Given the description of an element on the screen output the (x, y) to click on. 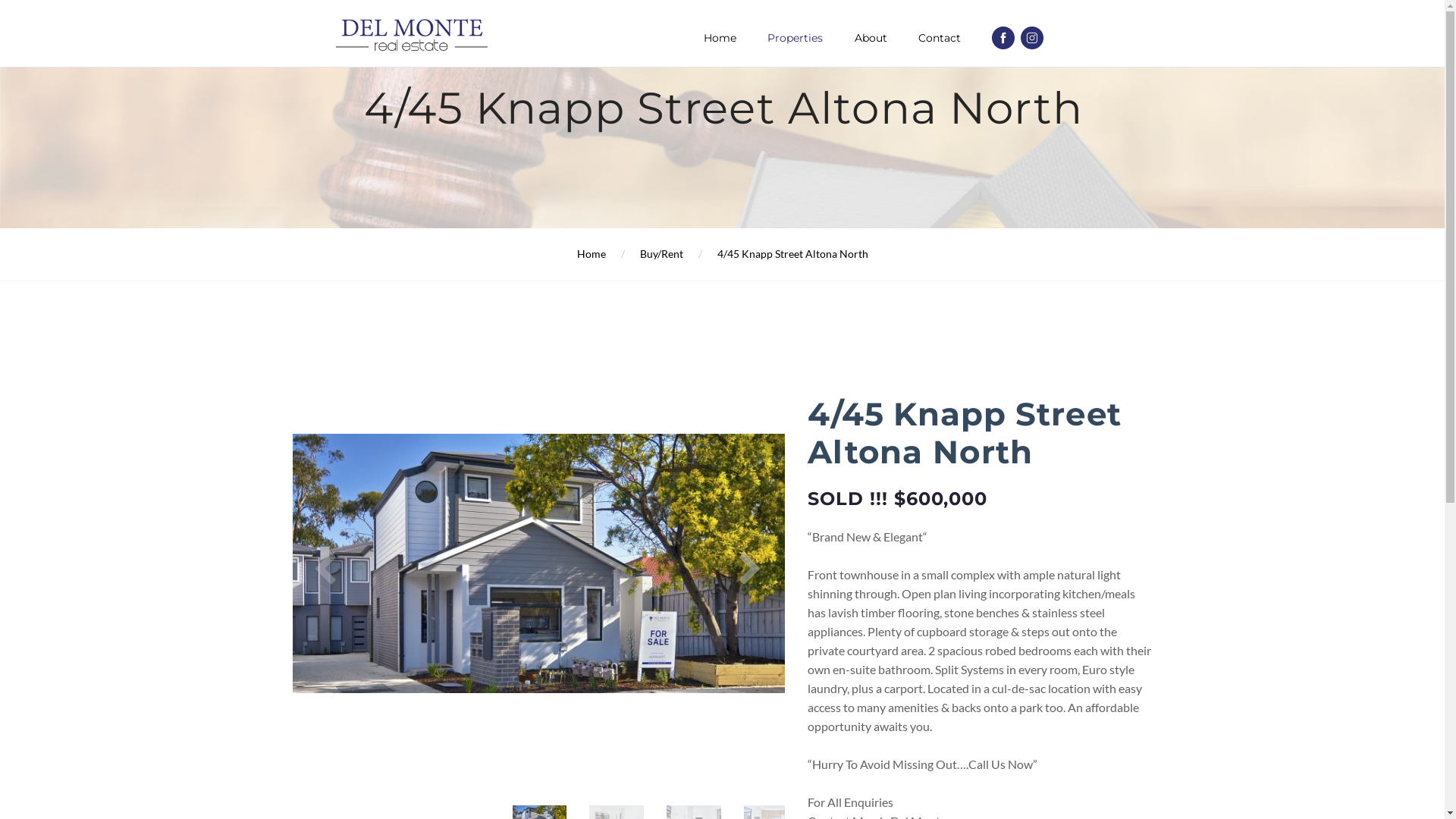
About Element type: text (869, 37)
4/45 Knapp Street Altona North Element type: text (792, 253)
Home Element type: text (590, 253)
Contact Element type: text (939, 37)
Home Element type: text (719, 37)
Buy/Rent Element type: text (661, 253)
Properties Element type: text (794, 37)
